Given the description of an element on the screen output the (x, y) to click on. 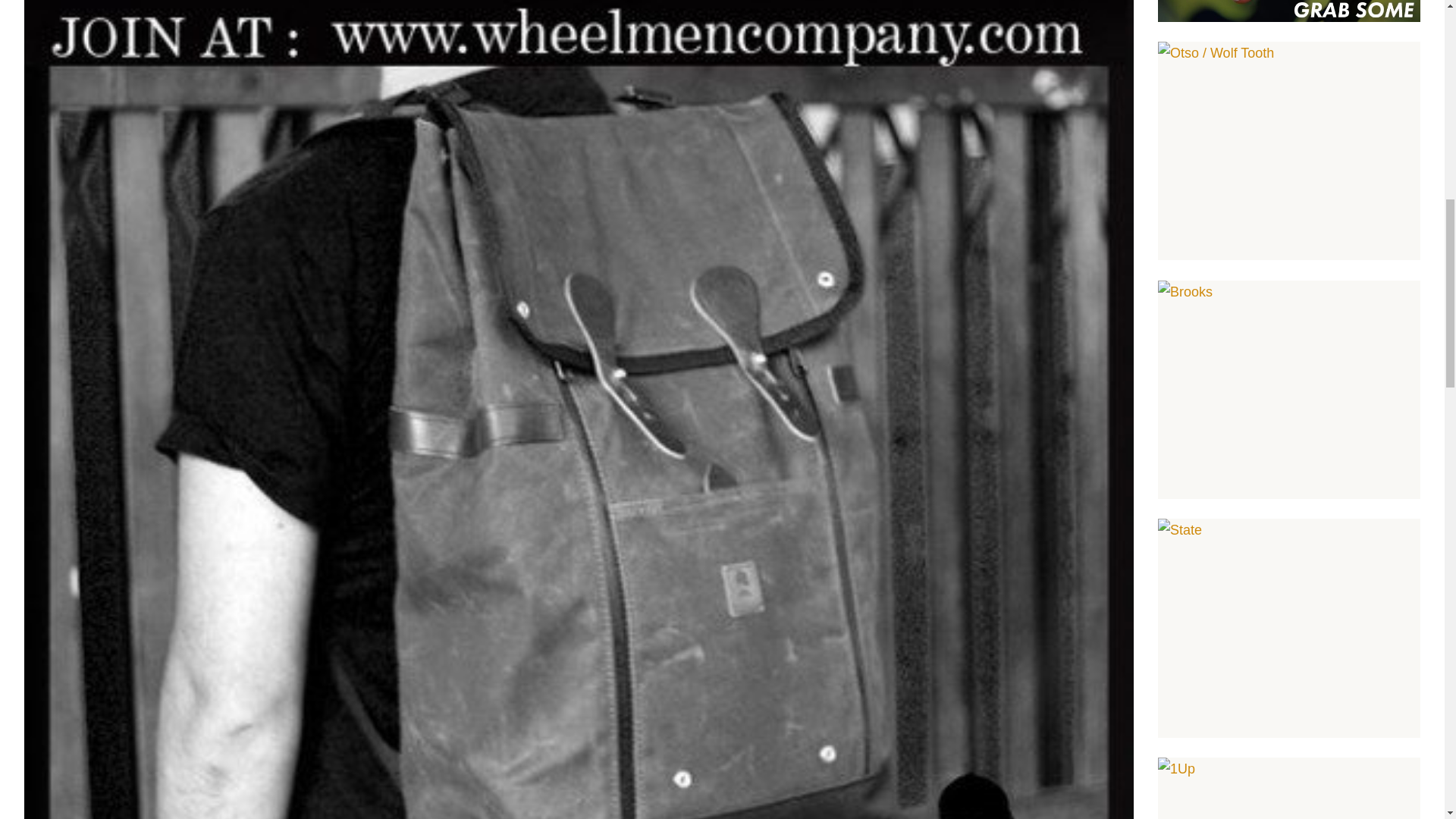
MicroShift (1289, 10)
State (1289, 627)
1Up (1289, 788)
Brooks (1289, 389)
